Given the description of an element on the screen output the (x, y) to click on. 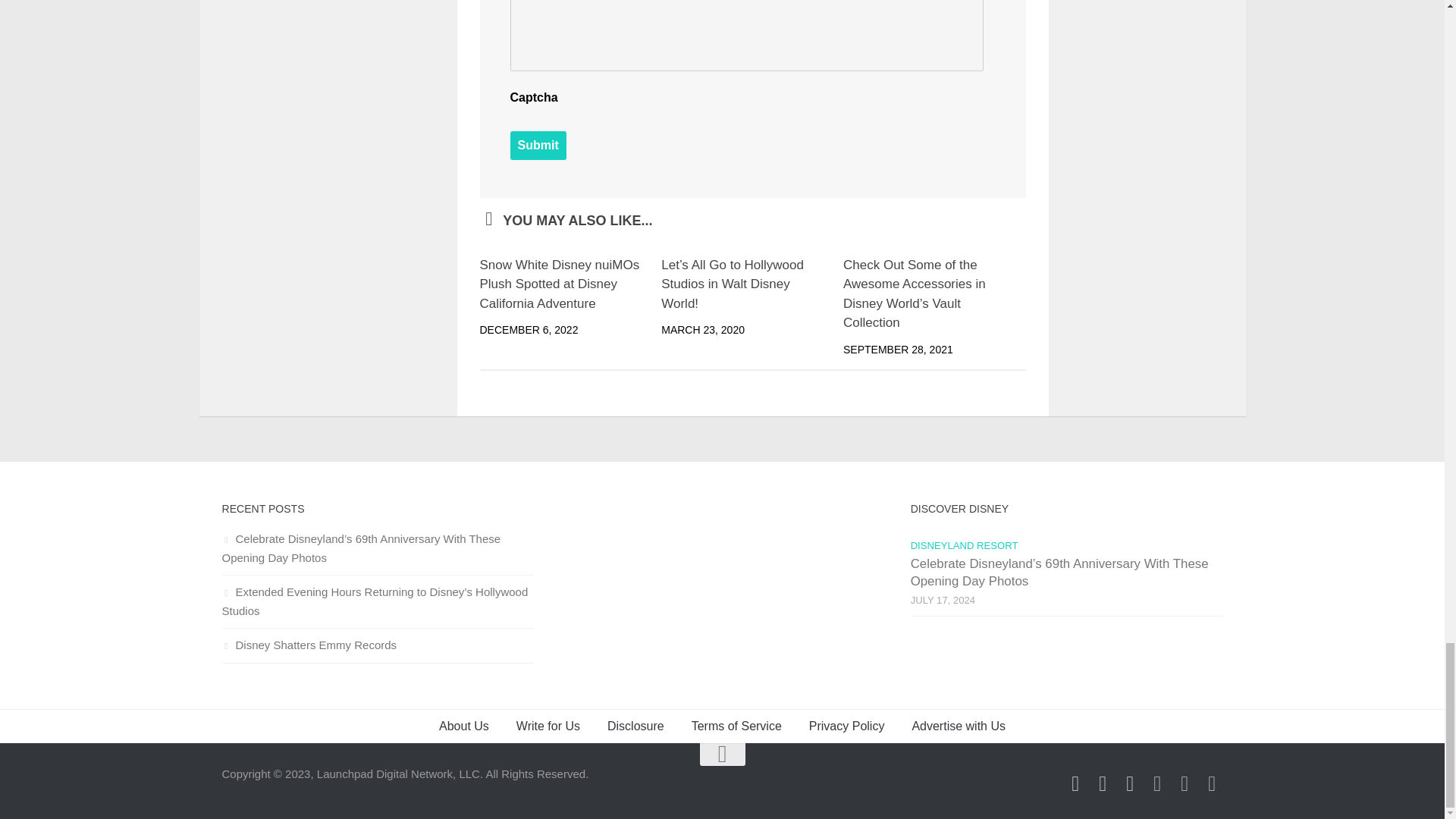
Follow us on Facebook (1075, 783)
Follow us on Instagram (1102, 783)
Follow us on Twitter (1129, 783)
Submit (537, 145)
